Given the description of an element on the screen output the (x, y) to click on. 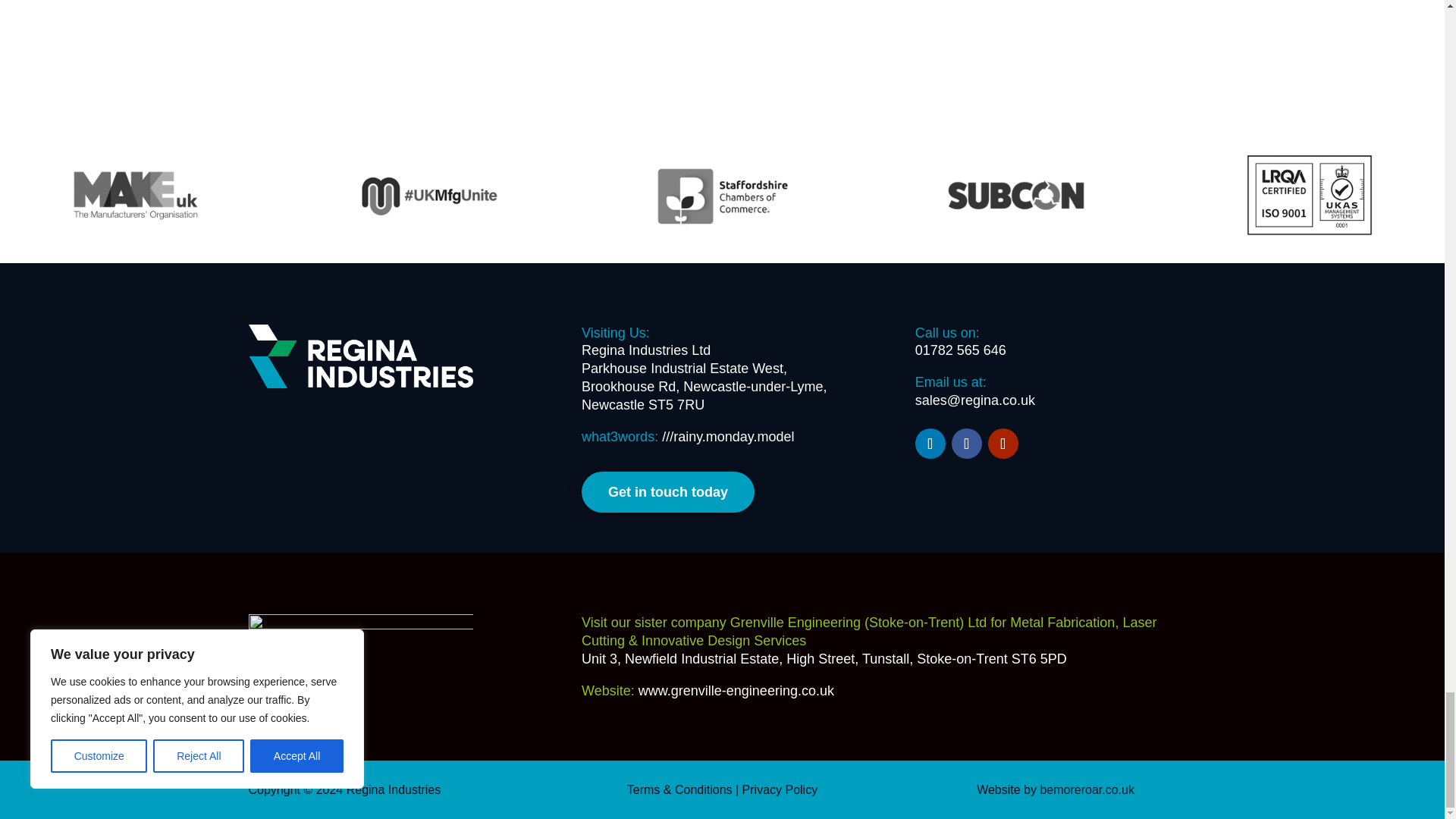
Follow on Facebook (966, 443)
Follow on Youtube (1002, 443)
Follow on LinkedIn (929, 443)
